Given the description of an element on the screen output the (x, y) to click on. 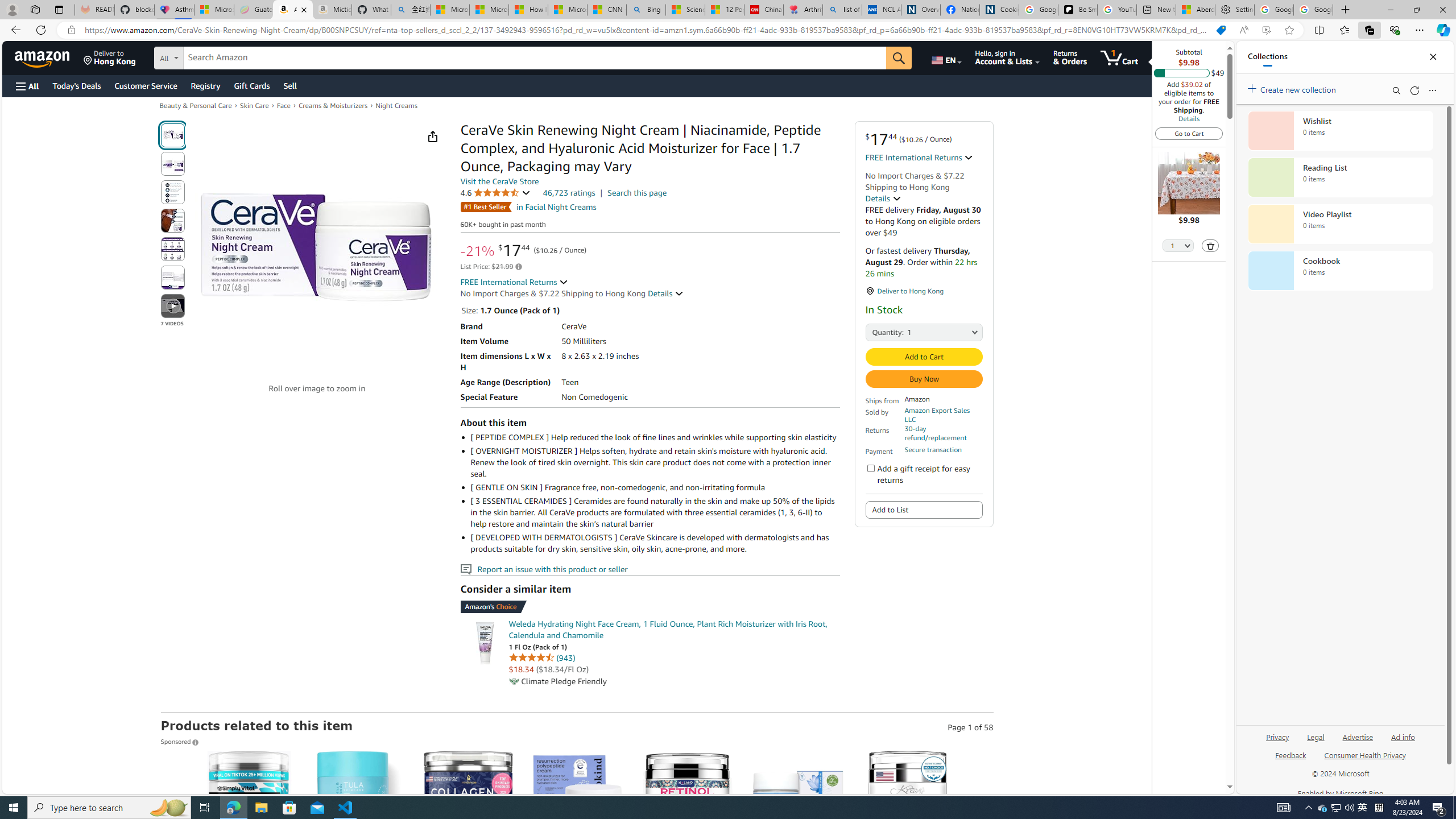
Consumer Health Privacy (1364, 759)
Legal (1315, 736)
Legal (1315, 741)
Hello, sign in Account & Lists (1007, 57)
Skip to main content (48, 56)
Face (283, 105)
Amazon (43, 57)
Report an issue with this product or seller (465, 569)
Details (1188, 118)
